Given the description of an element on the screen output the (x, y) to click on. 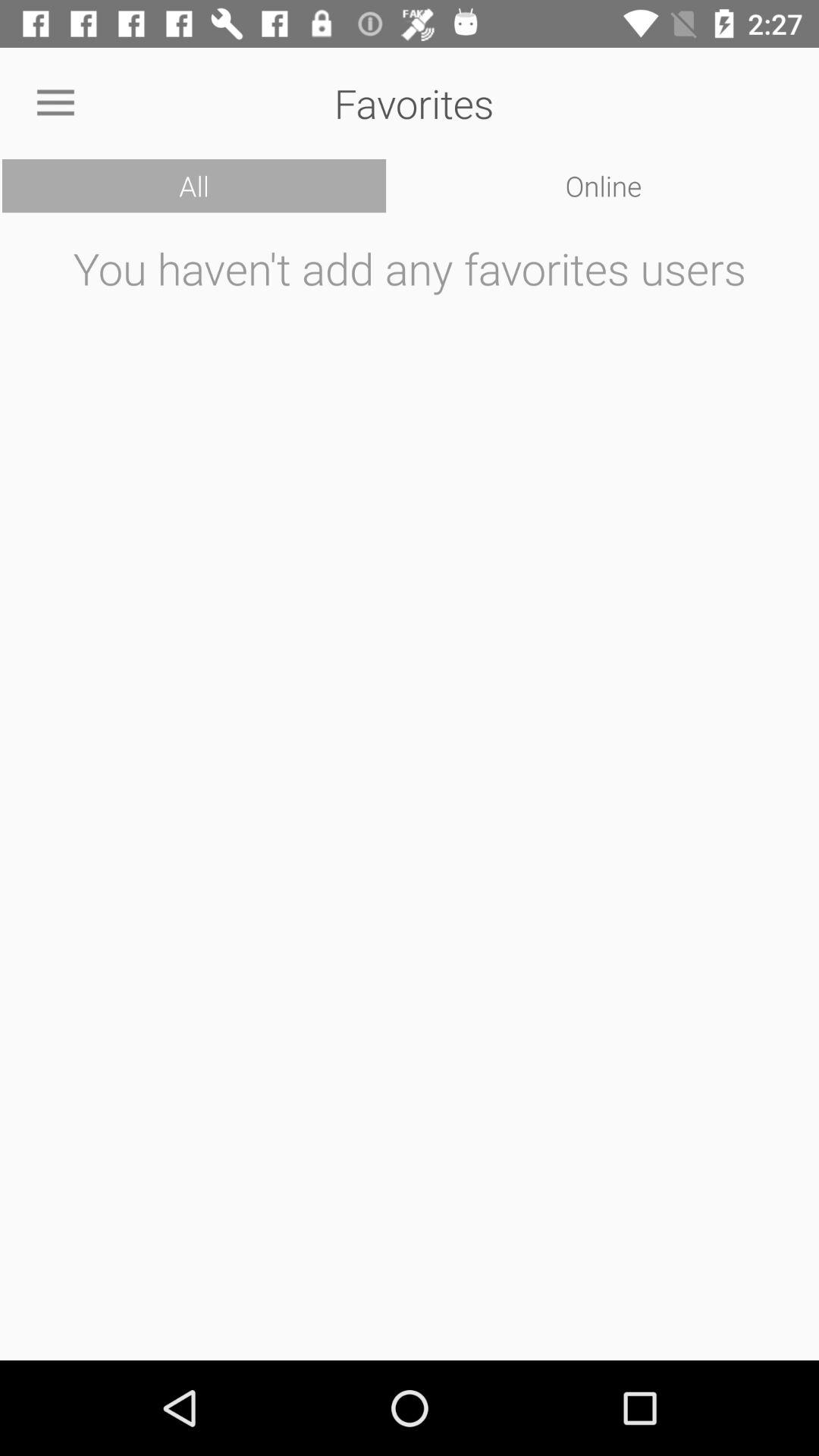
launch the item below the all icon (409, 791)
